Given the description of an element on the screen output the (x, y) to click on. 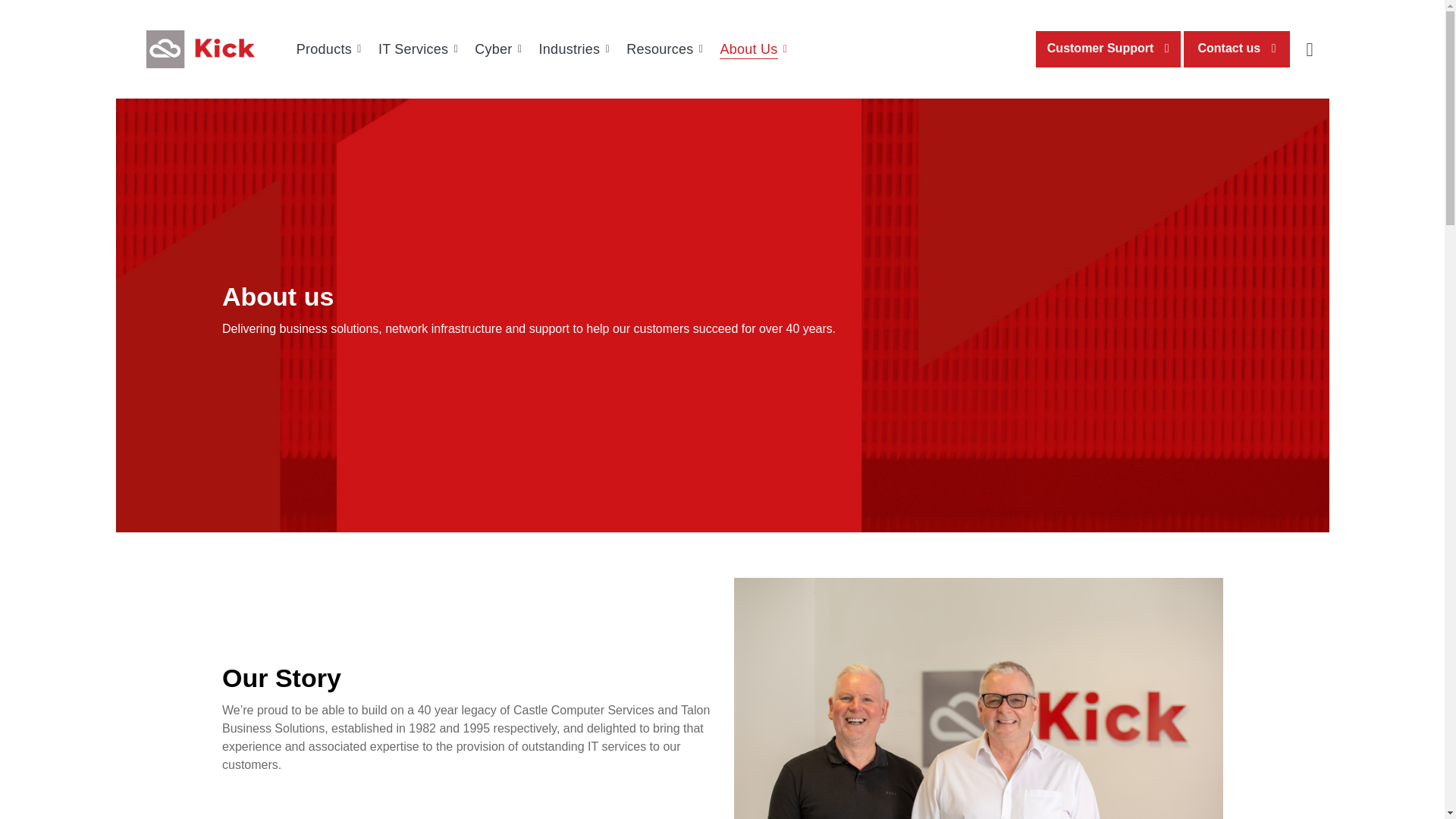
Kick ICT Group (199, 48)
